Given the description of an element on the screen output the (x, y) to click on. 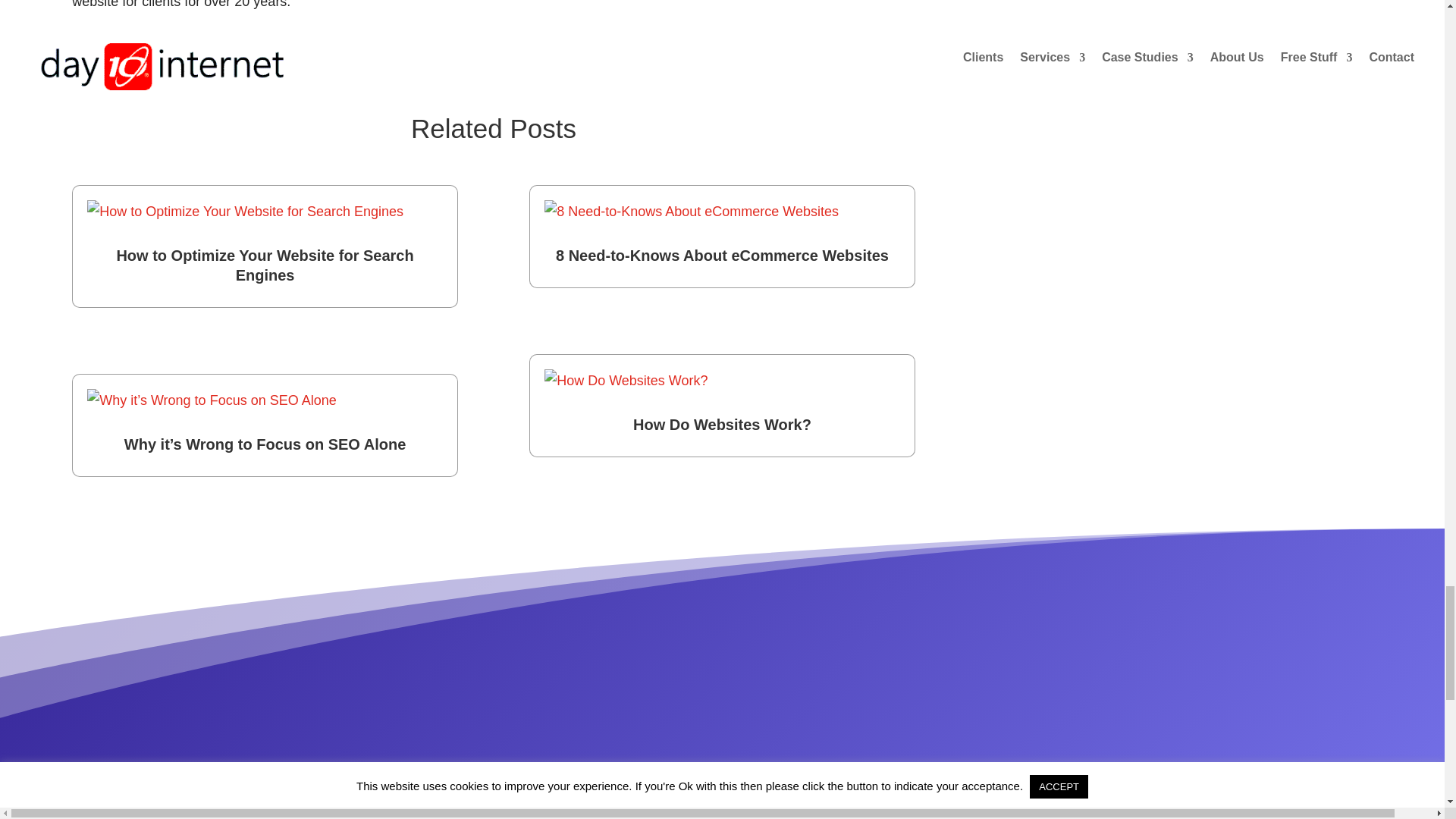
Follow on Facebook (83, 60)
Follow on X (113, 60)
Follow on LinkedIn (144, 60)
